Given the description of an element on the screen output the (x, y) to click on. 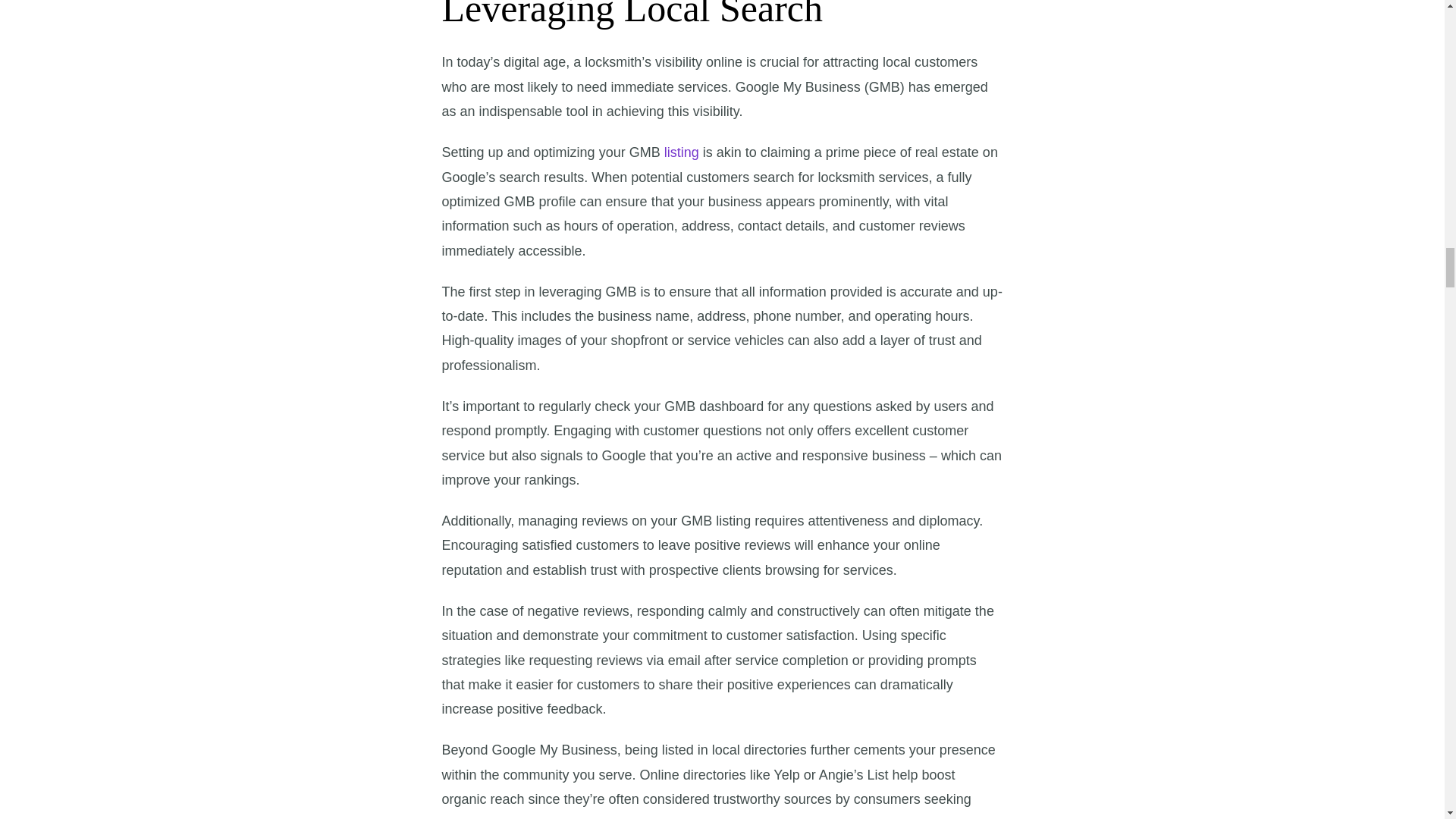
listing (680, 151)
